Given the description of an element on the screen output the (x, y) to click on. 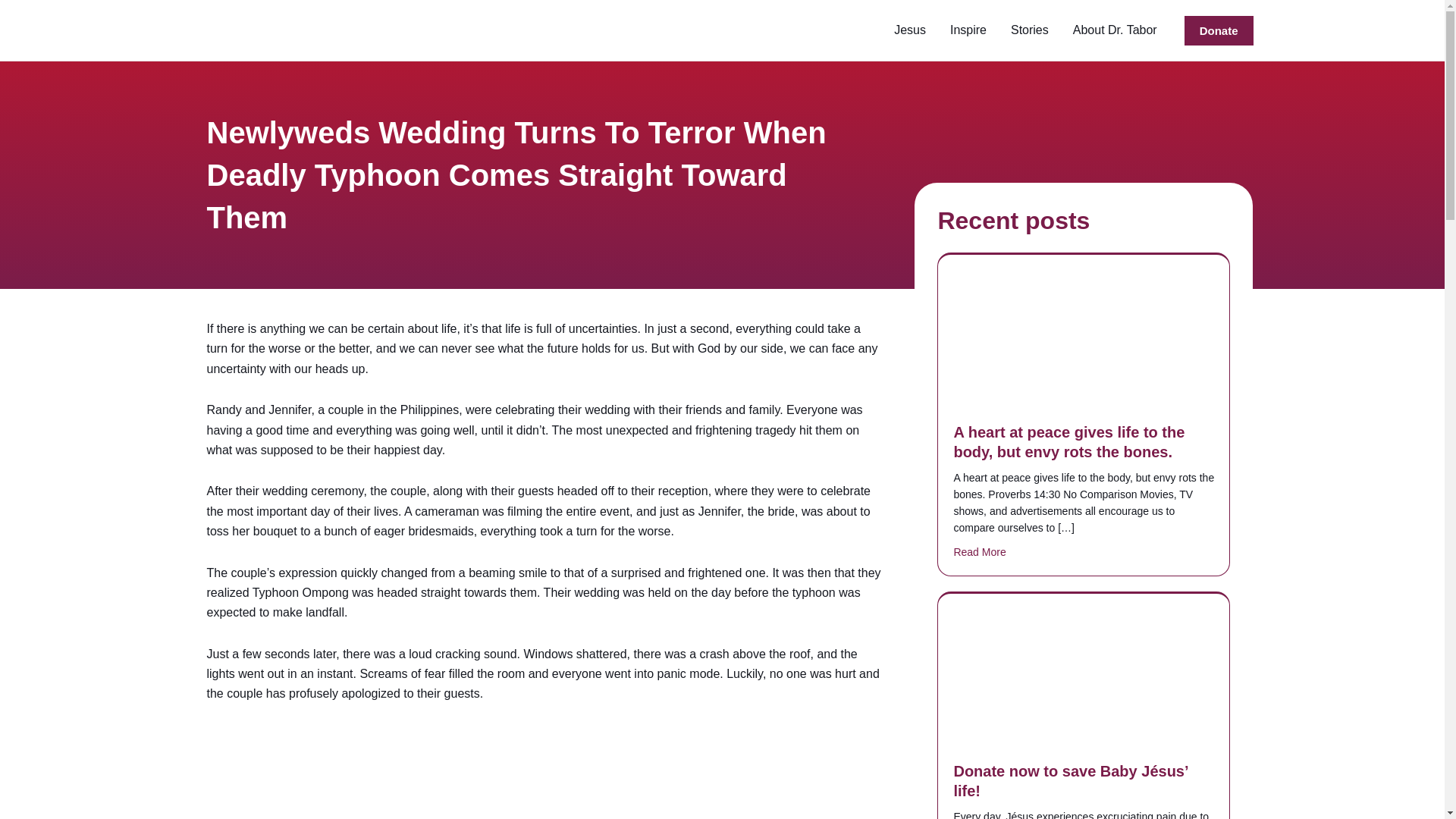
Stories (1029, 30)
Jesus (909, 30)
About Dr. Tabor (1115, 30)
Donate (1219, 30)
Inspire (967, 30)
Read More (979, 551)
